Given the description of an element on the screen output the (x, y) to click on. 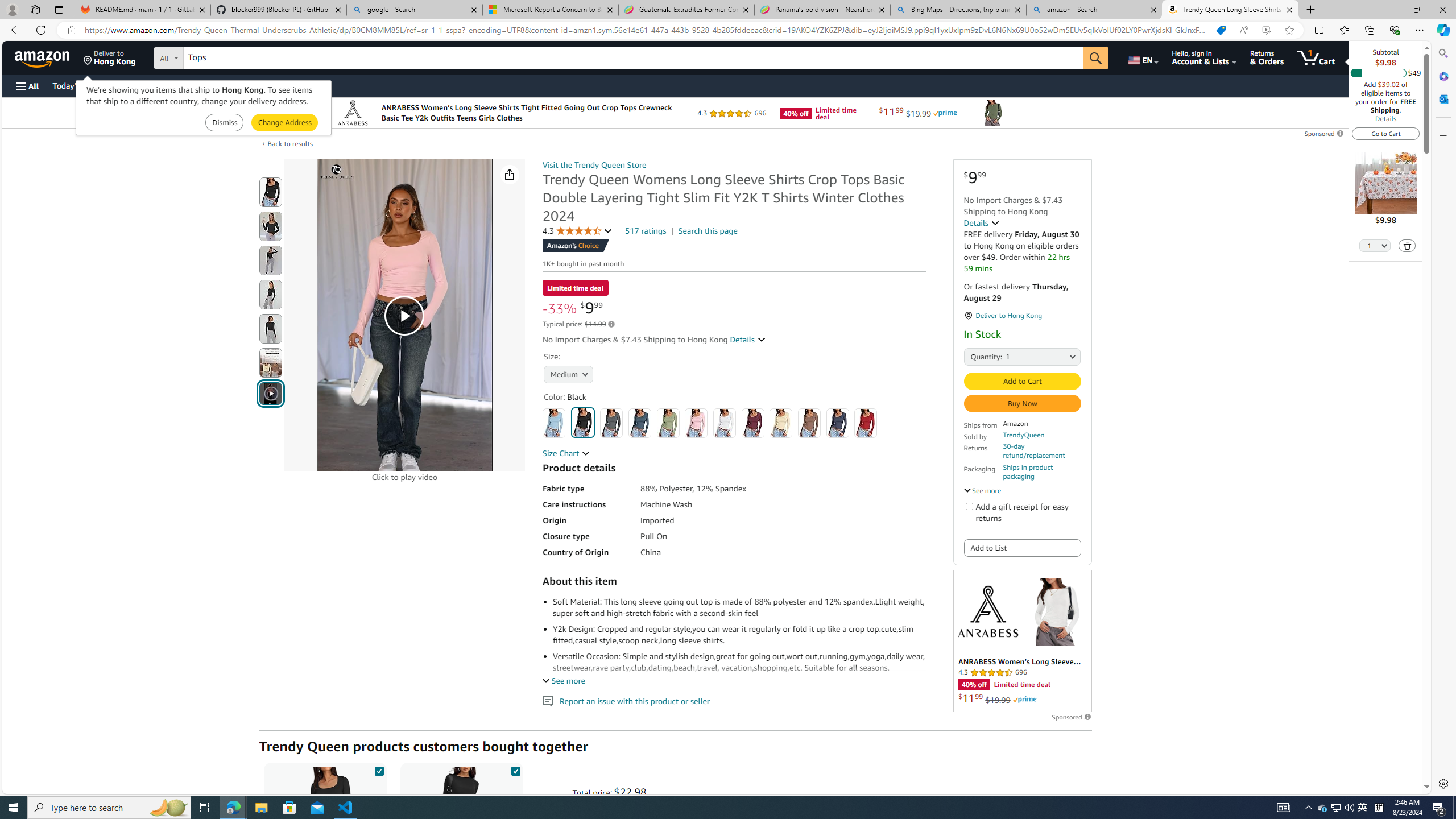
Delete (1407, 245)
Pink (696, 422)
Search in (210, 56)
Baby Blue (553, 422)
Sell (290, 85)
Light Green (667, 422)
4.3 4.3 out of 5 stars (577, 230)
Gift Cards (251, 85)
Sponsored ad (1022, 640)
Black (583, 422)
Returns & Orders (1266, 57)
Learn more about Amazon pricing and savings (610, 324)
